Given the description of an element on the screen output the (x, y) to click on. 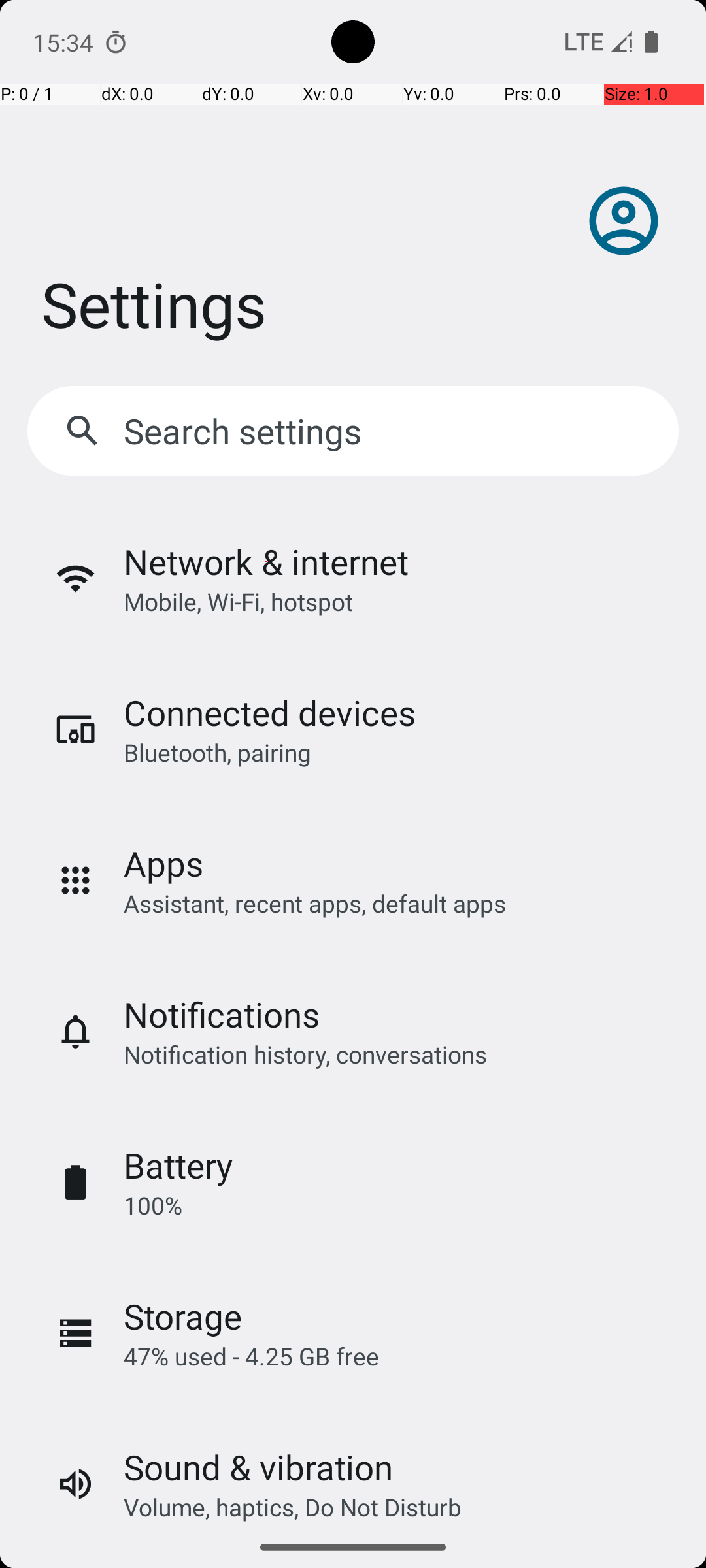
47% used - 4.25 GB free Element type: android.widget.TextView (251, 1355)
